Given the description of an element on the screen output the (x, y) to click on. 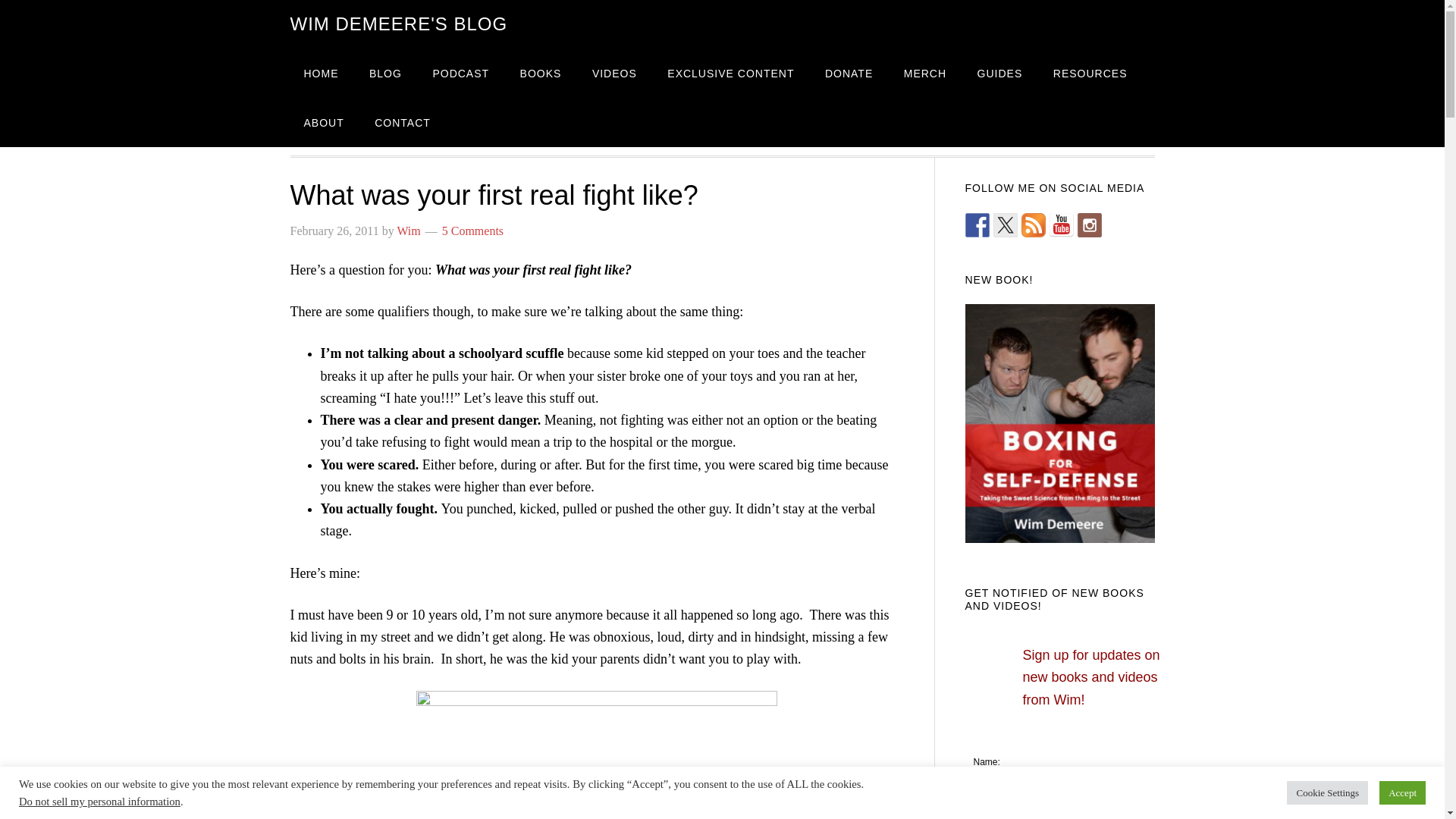
HOME (320, 72)
What was your first real fight like (596, 754)
PODCAST (460, 72)
EXCLUSIVE CONTENT (730, 72)
MERCH (924, 72)
BLOG (384, 72)
RESOURCES (1090, 72)
CONTACT (402, 122)
WIM DEMEERE'S BLOG (397, 23)
GUIDES (999, 72)
